Given the description of an element on the screen output the (x, y) to click on. 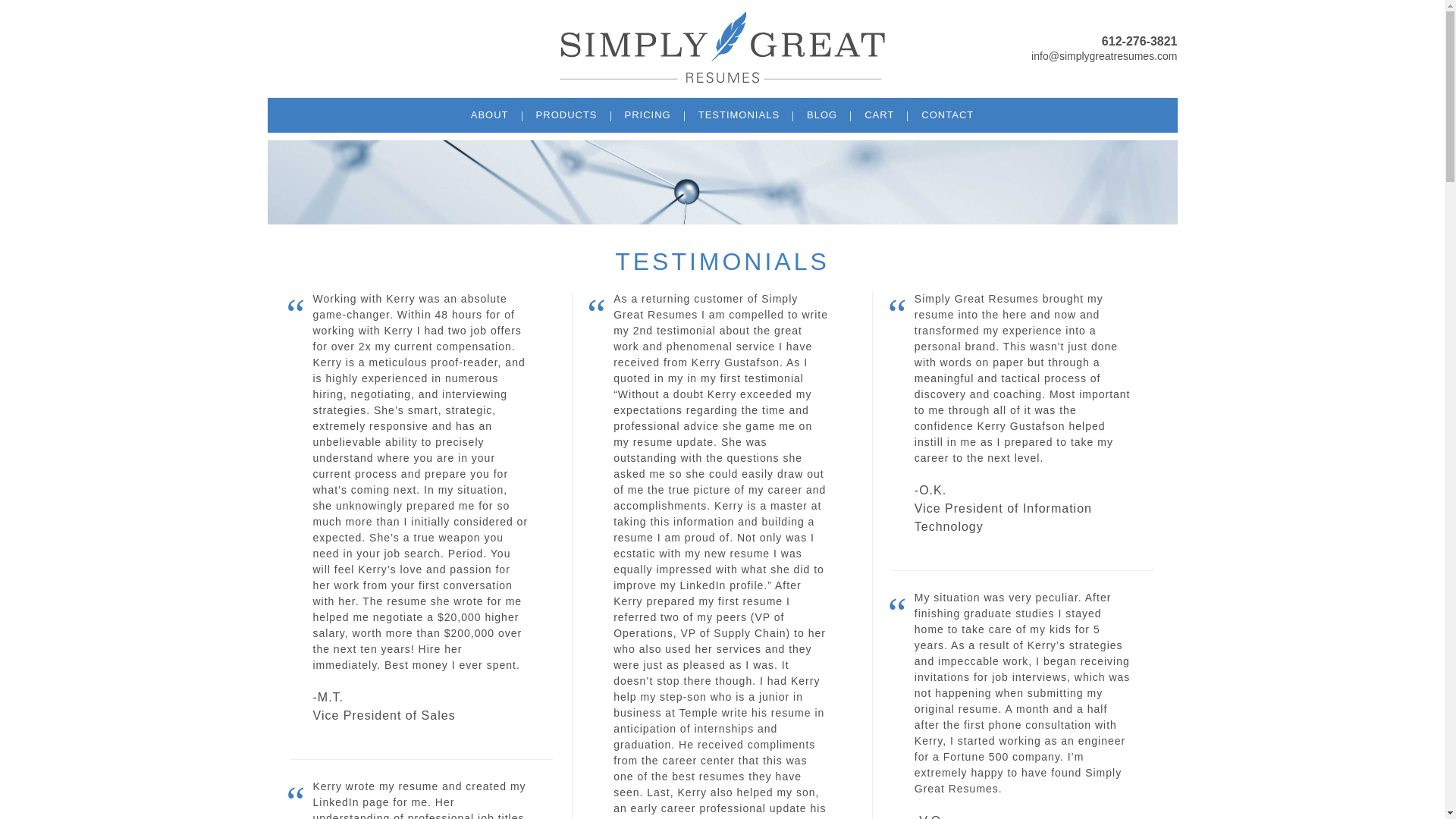
ABOUT (489, 114)
PRICING (647, 114)
CART (878, 114)
PRODUCTS (566, 114)
612-276-3821 (1103, 41)
CONTACT (947, 114)
TESTIMONIALS (738, 114)
BLOG (821, 114)
